Given the description of an element on the screen output the (x, y) to click on. 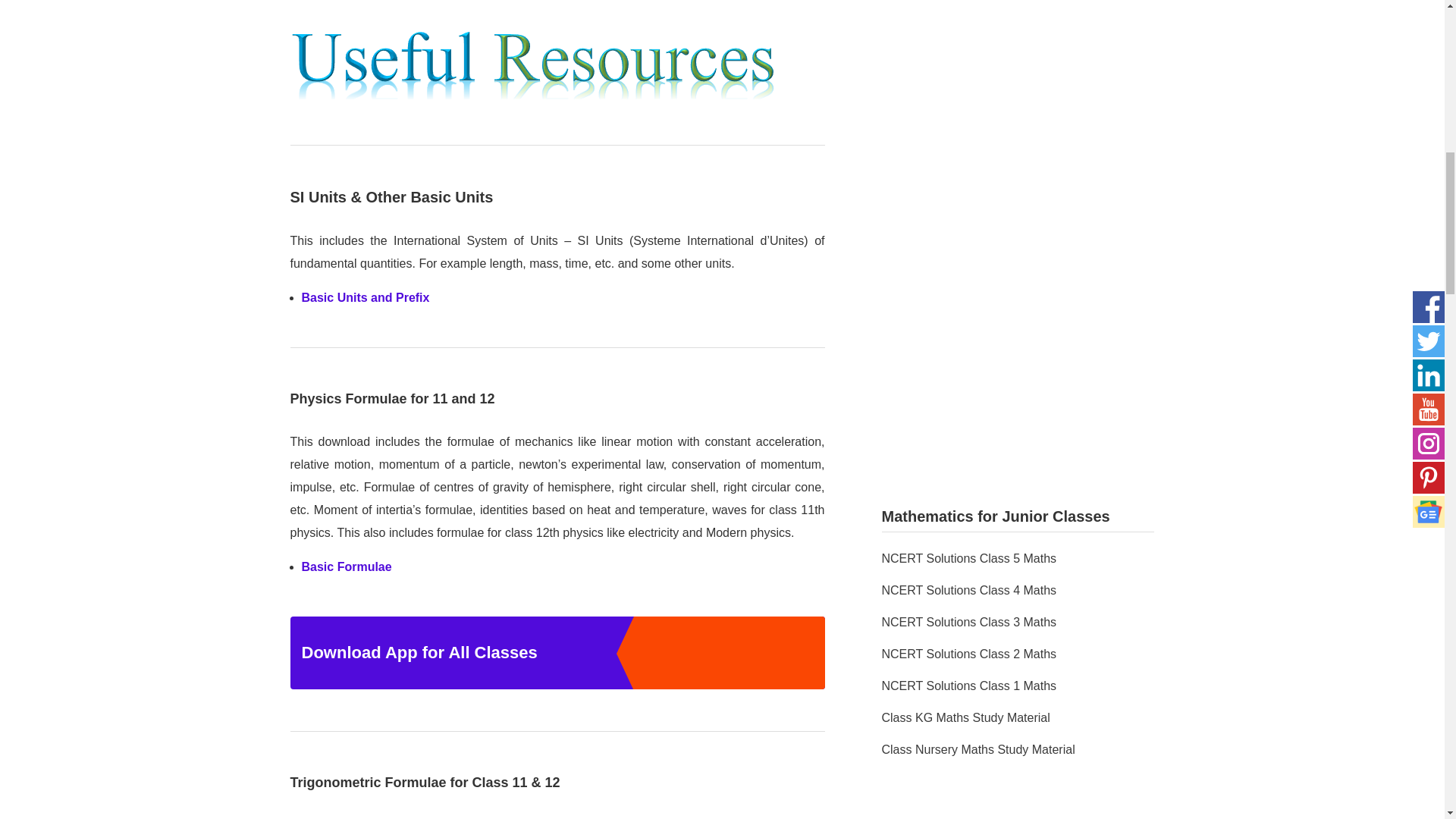
Advertisement (1017, 370)
